Given the description of an element on the screen output the (x, y) to click on. 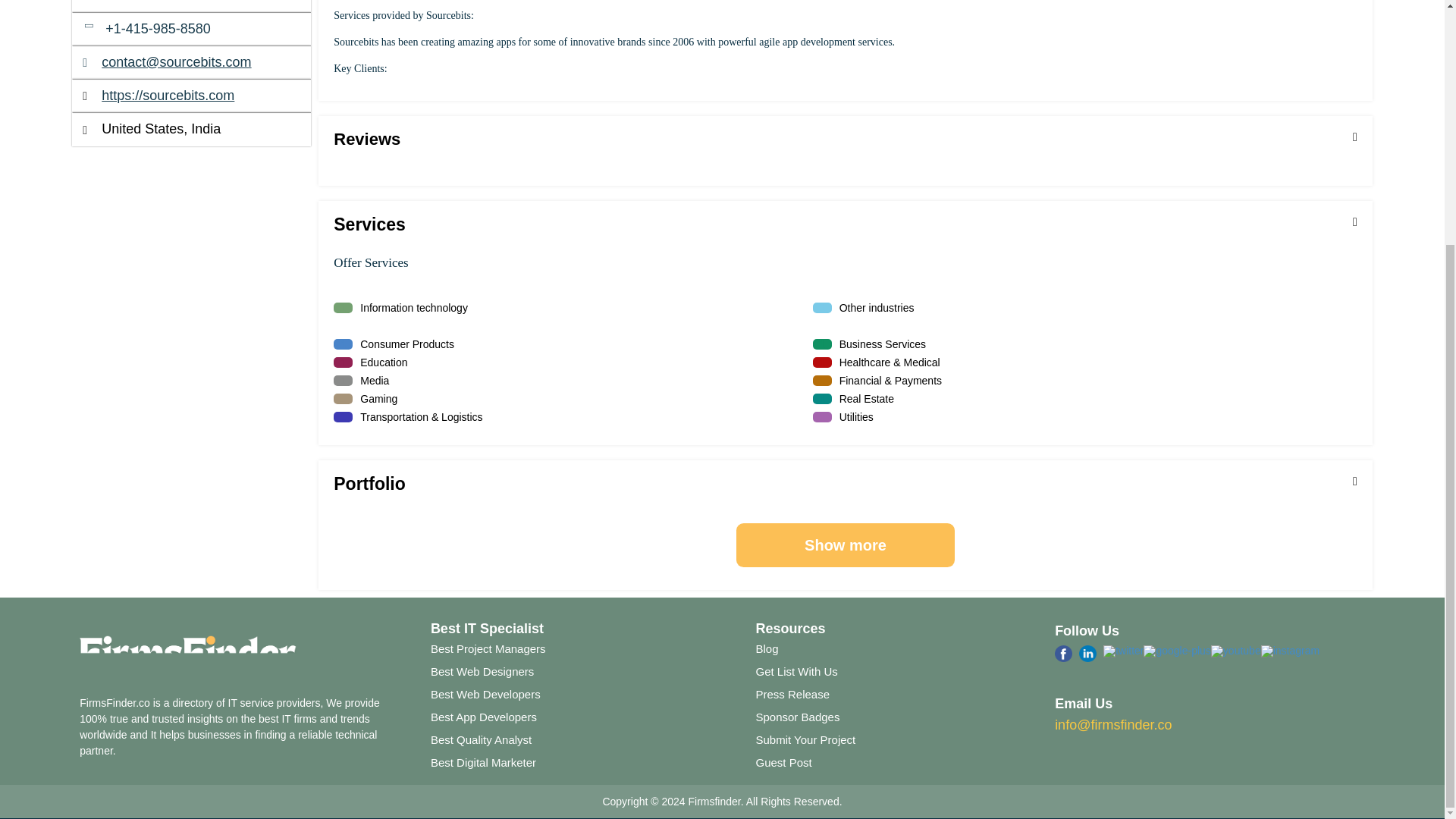
Twiter (1122, 659)
Gmail (1175, 659)
Instagram (1289, 659)
Email Us (1113, 724)
Youtube (1235, 659)
